Given the description of an element on the screen output the (x, y) to click on. 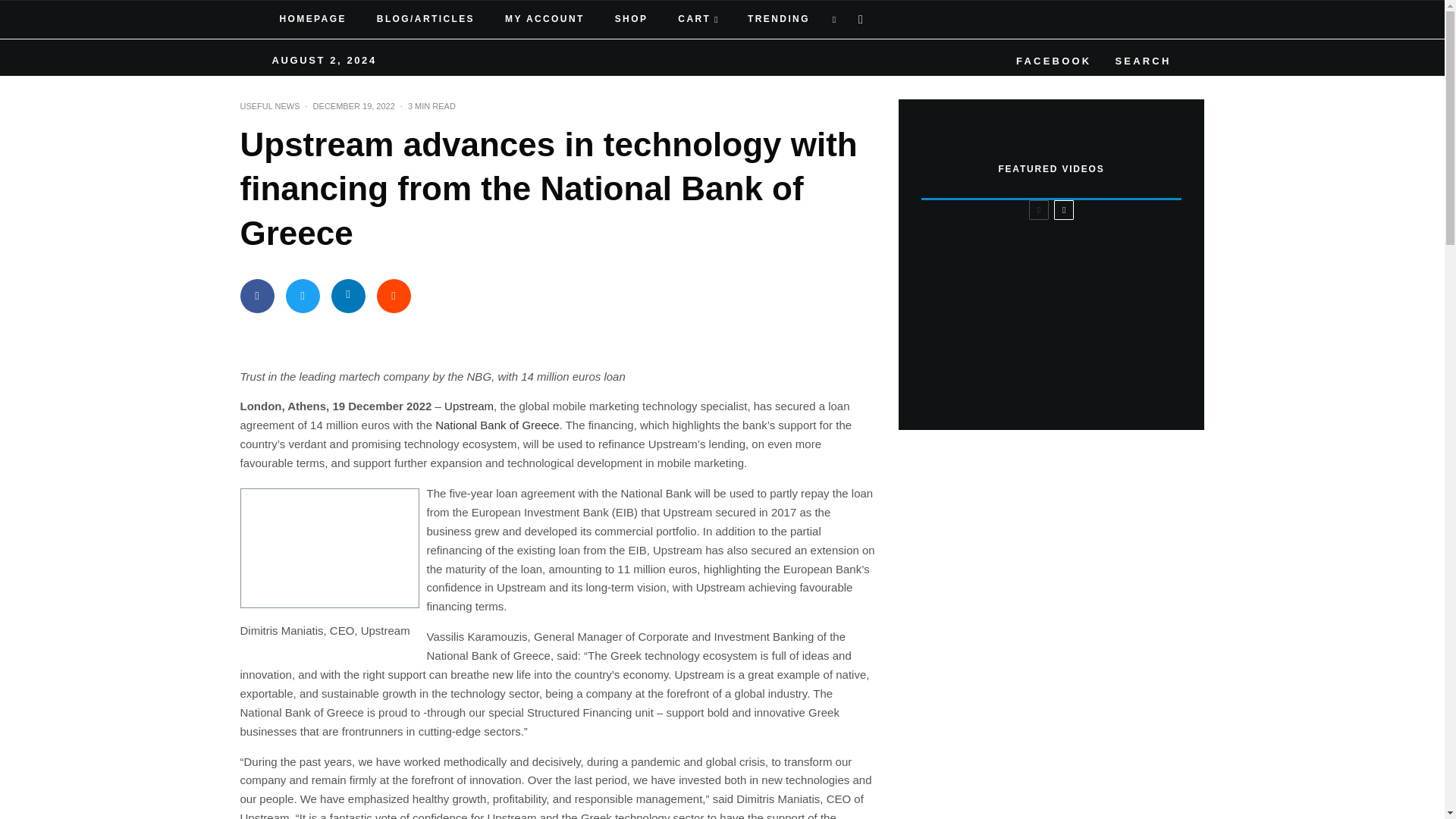
SHOP (631, 19)
MY ACCOUNT (544, 19)
CART (698, 19)
Dimitris Maniatis, CEO, Upstream (329, 548)
TRENDING (776, 19)
HOMEPAGE (312, 19)
FACEBOOK (1050, 57)
Upstream (468, 405)
National Bank of Greece (497, 424)
USEFUL NEWS (269, 106)
